Given the description of an element on the screen output the (x, y) to click on. 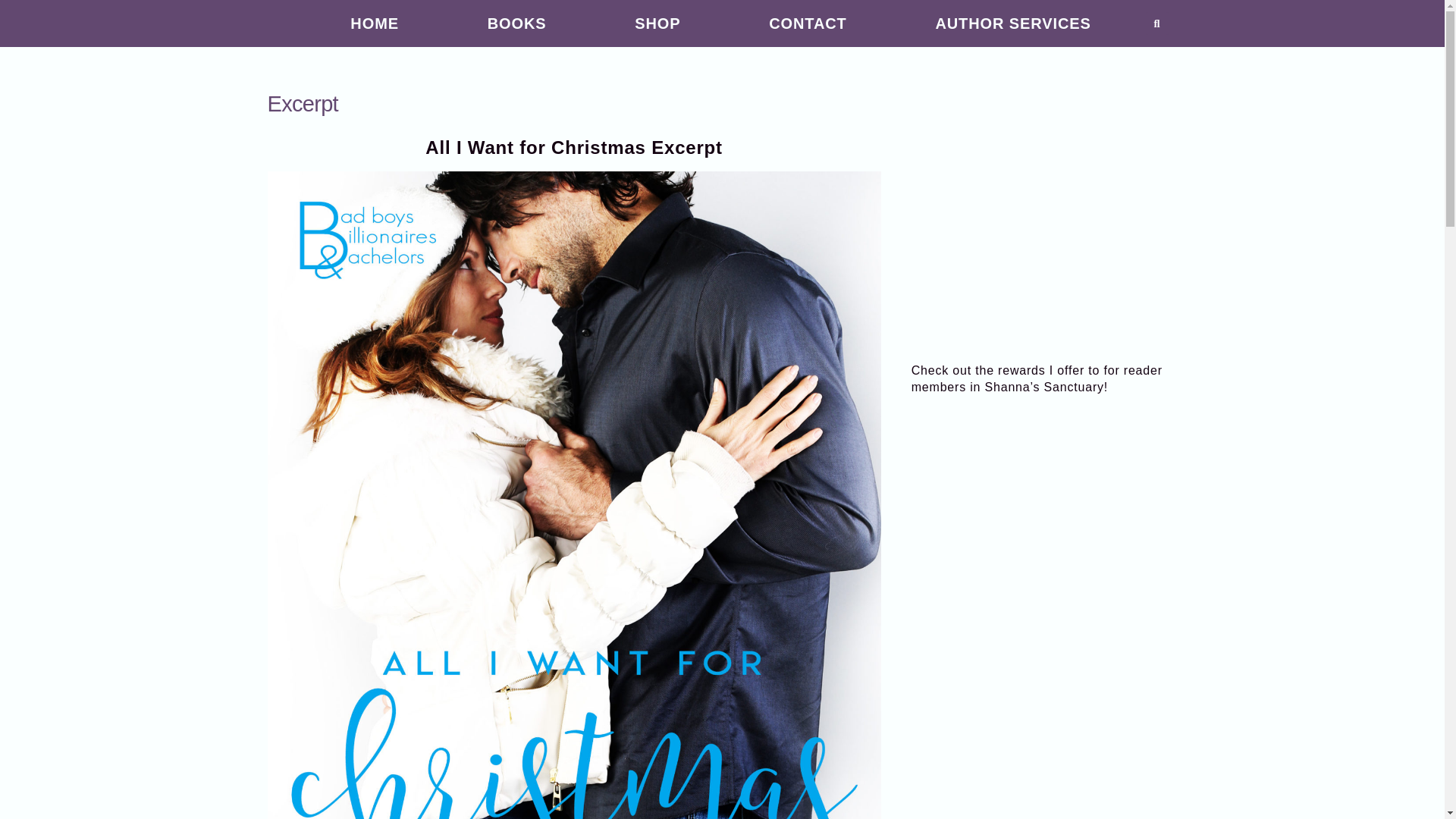
BOOKS (516, 23)
CONTACT (807, 23)
HOME (375, 23)
AUTHOR SERVICES (1013, 23)
SHOP (657, 23)
